Given the description of an element on the screen output the (x, y) to click on. 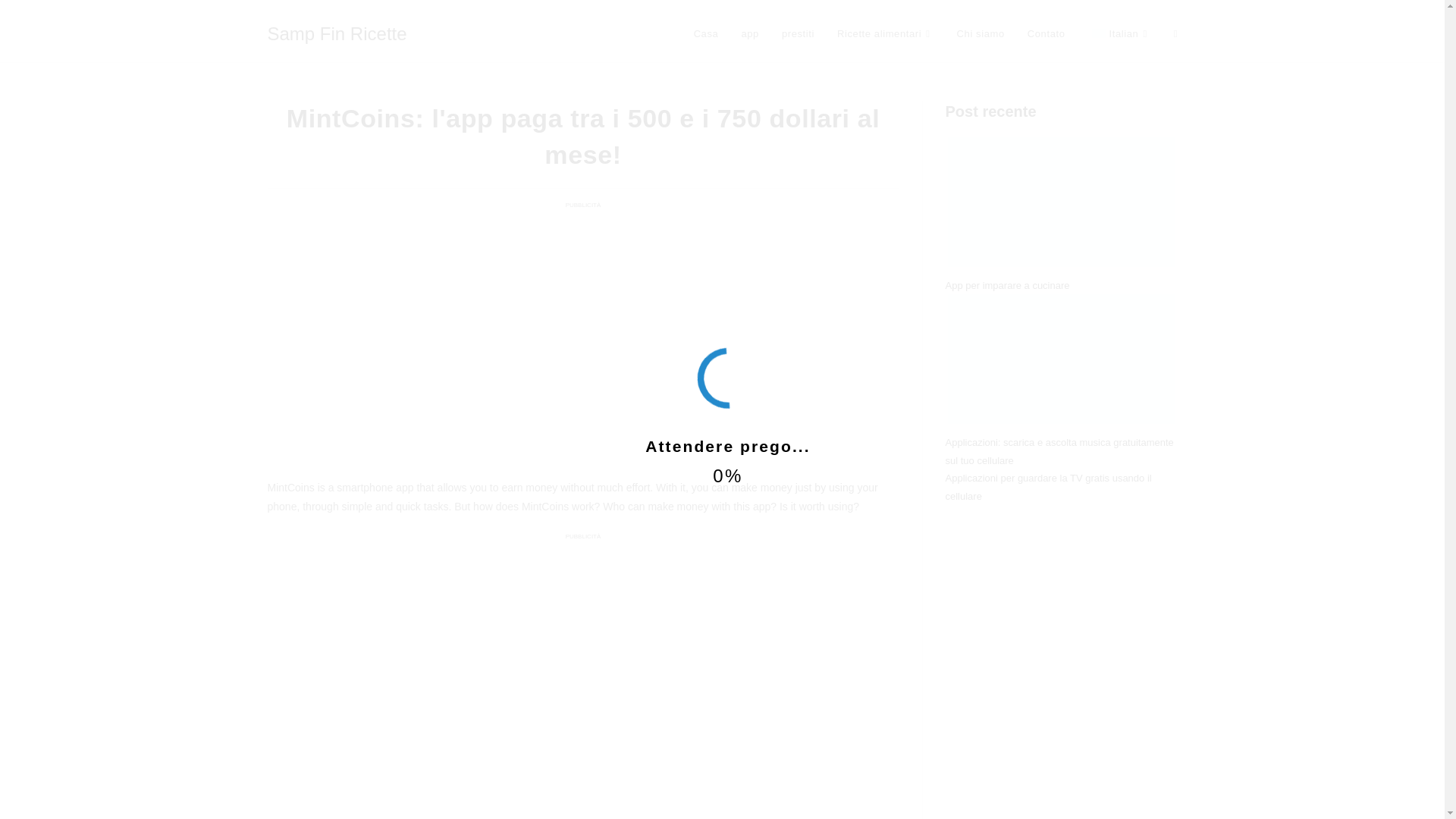
Ricette alimentari (884, 33)
Chi siamo (980, 33)
Samp Fin Ricette (336, 33)
Contato (1046, 33)
prestiti (797, 33)
Italian (1098, 32)
Italian (1119, 33)
